Given the description of an element on the screen output the (x, y) to click on. 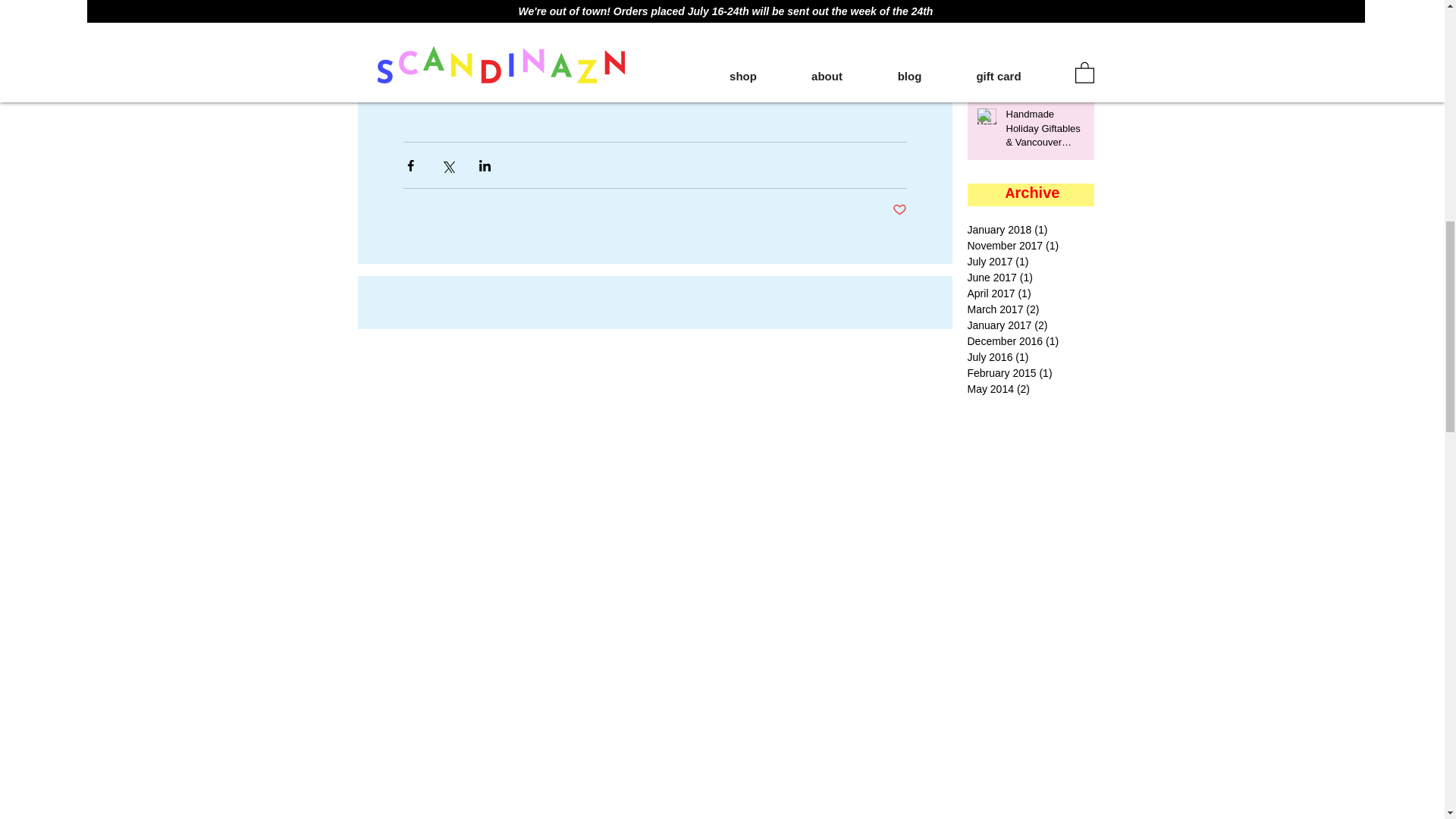
A look back at the year in photos, part 2. (1045, 1)
Post not marked as liked (898, 210)
